Given the description of an element on the screen output the (x, y) to click on. 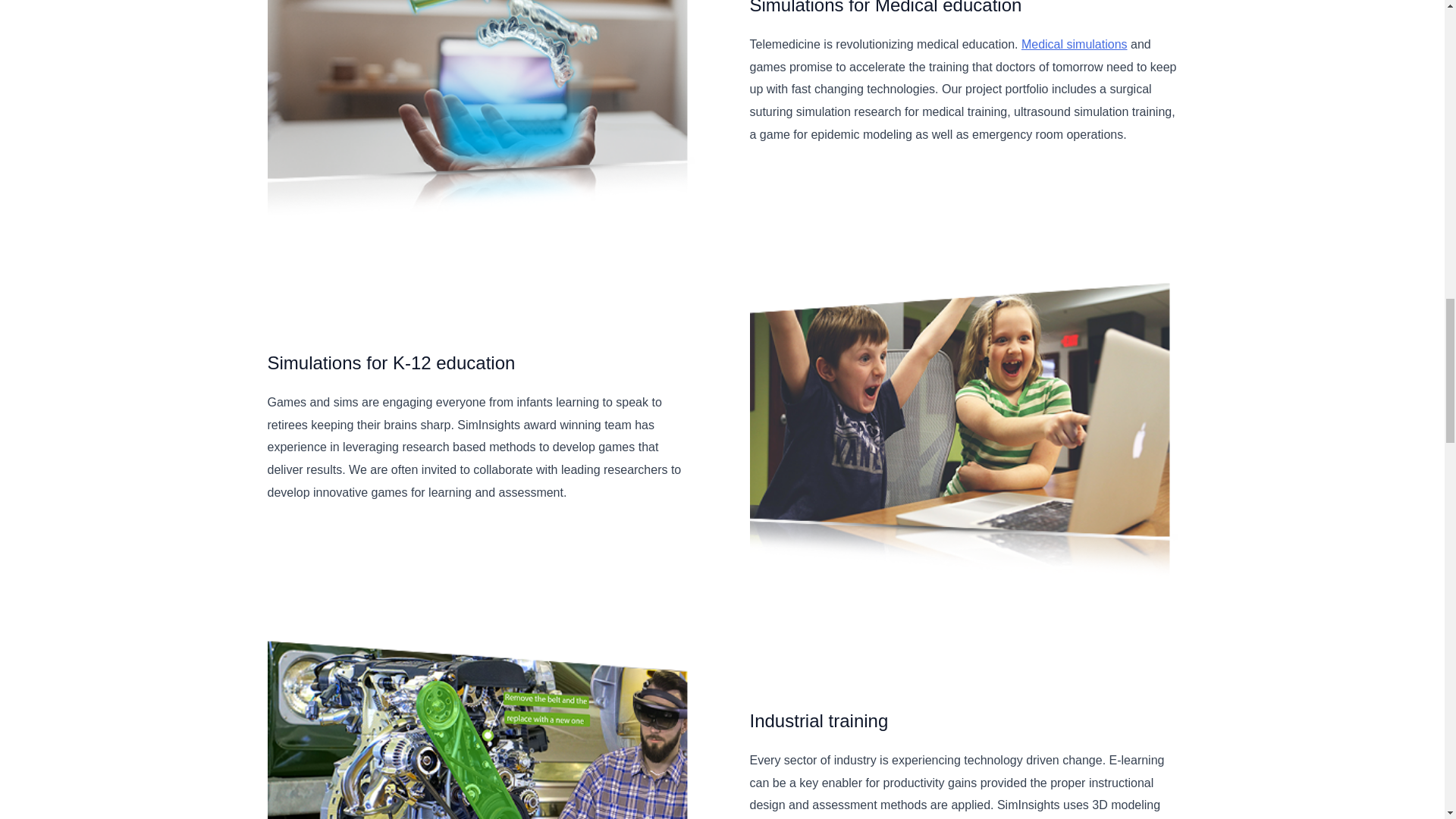
Simulations-For-Medical-Education-1 (480, 110)
Industrial-Training-Simulations (480, 726)
